Given the description of an element on the screen output the (x, y) to click on. 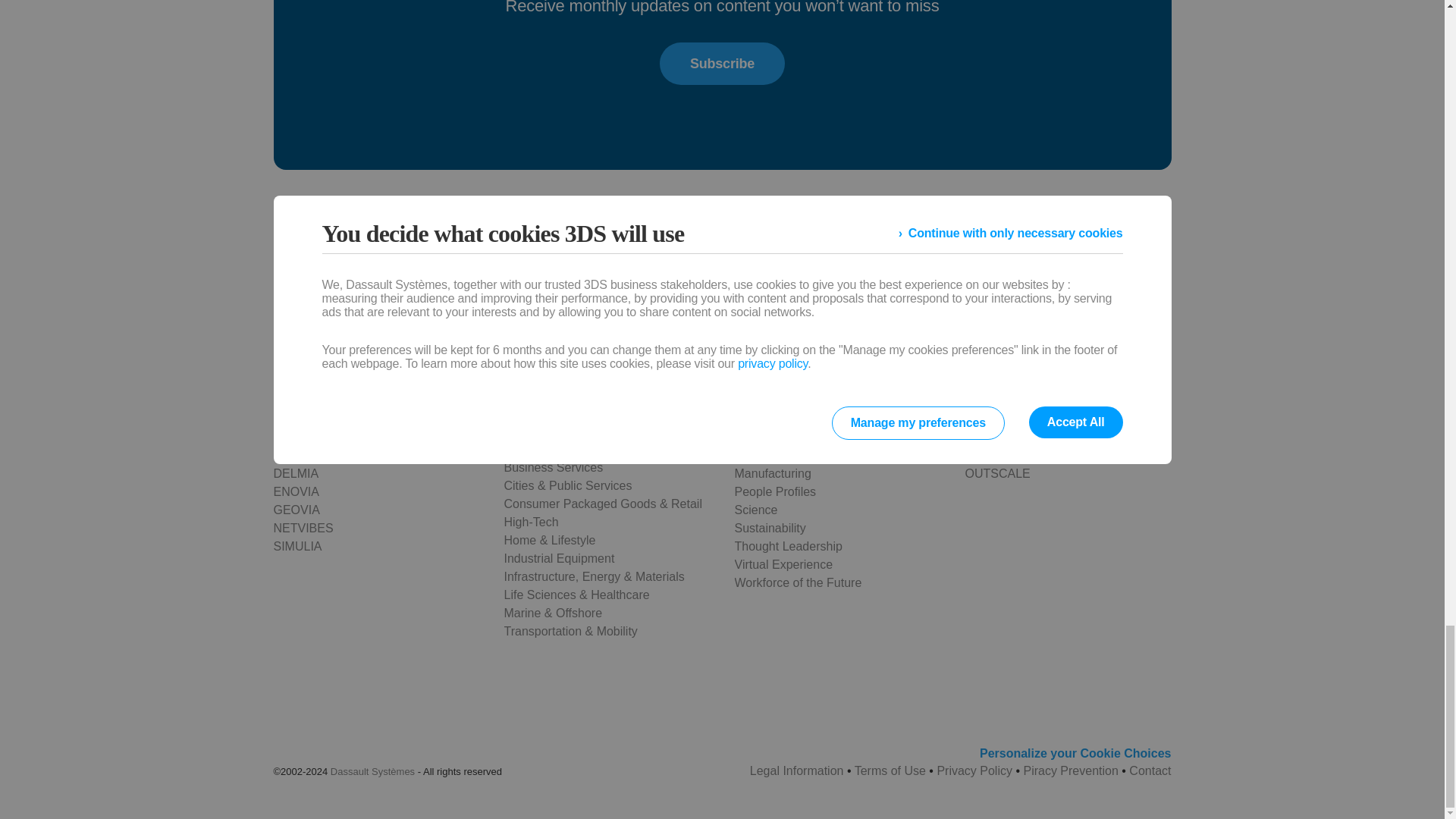
Linkedin account (472, 302)
Twitter account (433, 302)
Facebook account (393, 302)
